Given the description of an element on the screen output the (x, y) to click on. 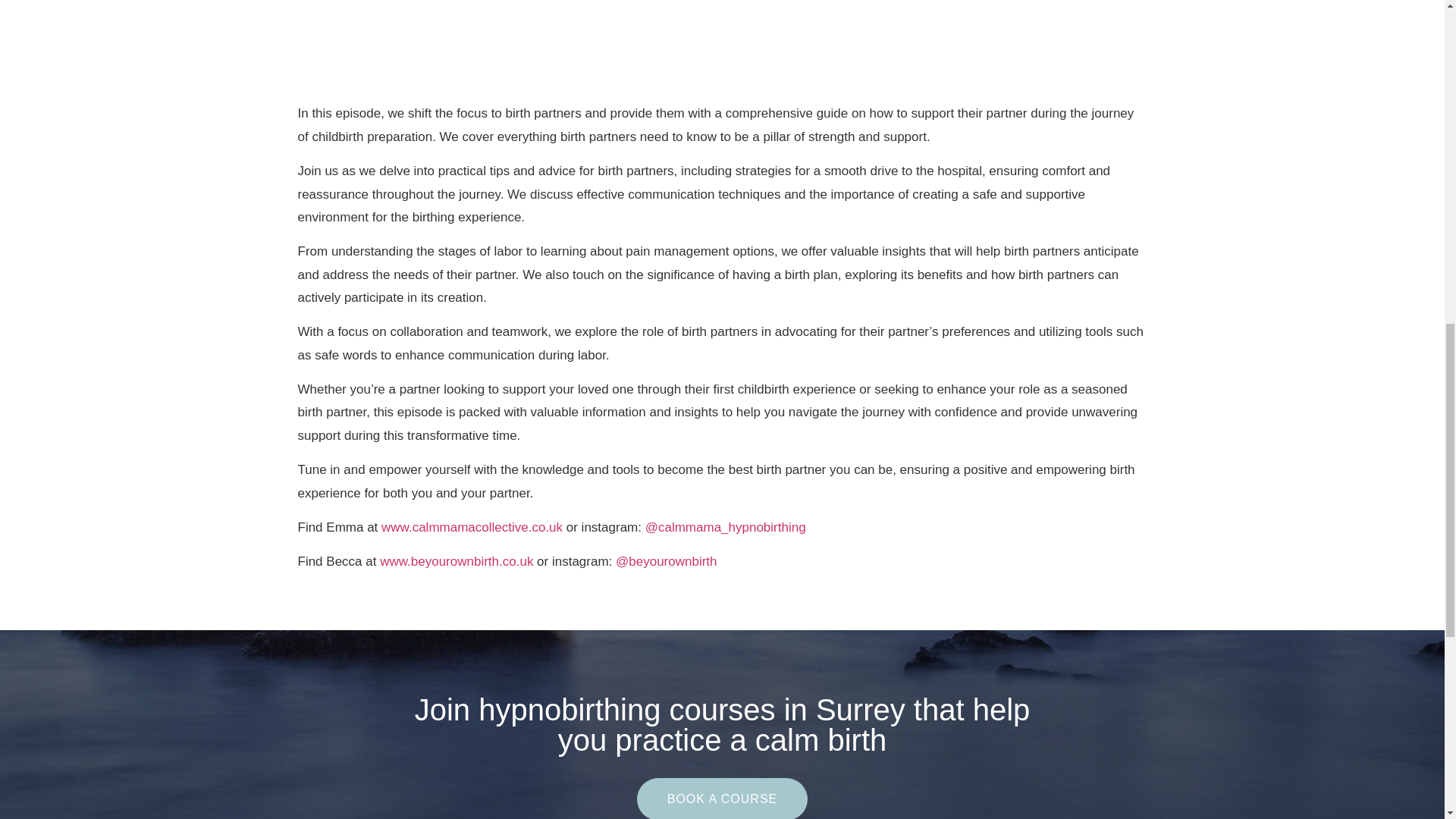
BOOK A COURSE (722, 798)
